Given the description of an element on the screen output the (x, y) to click on. 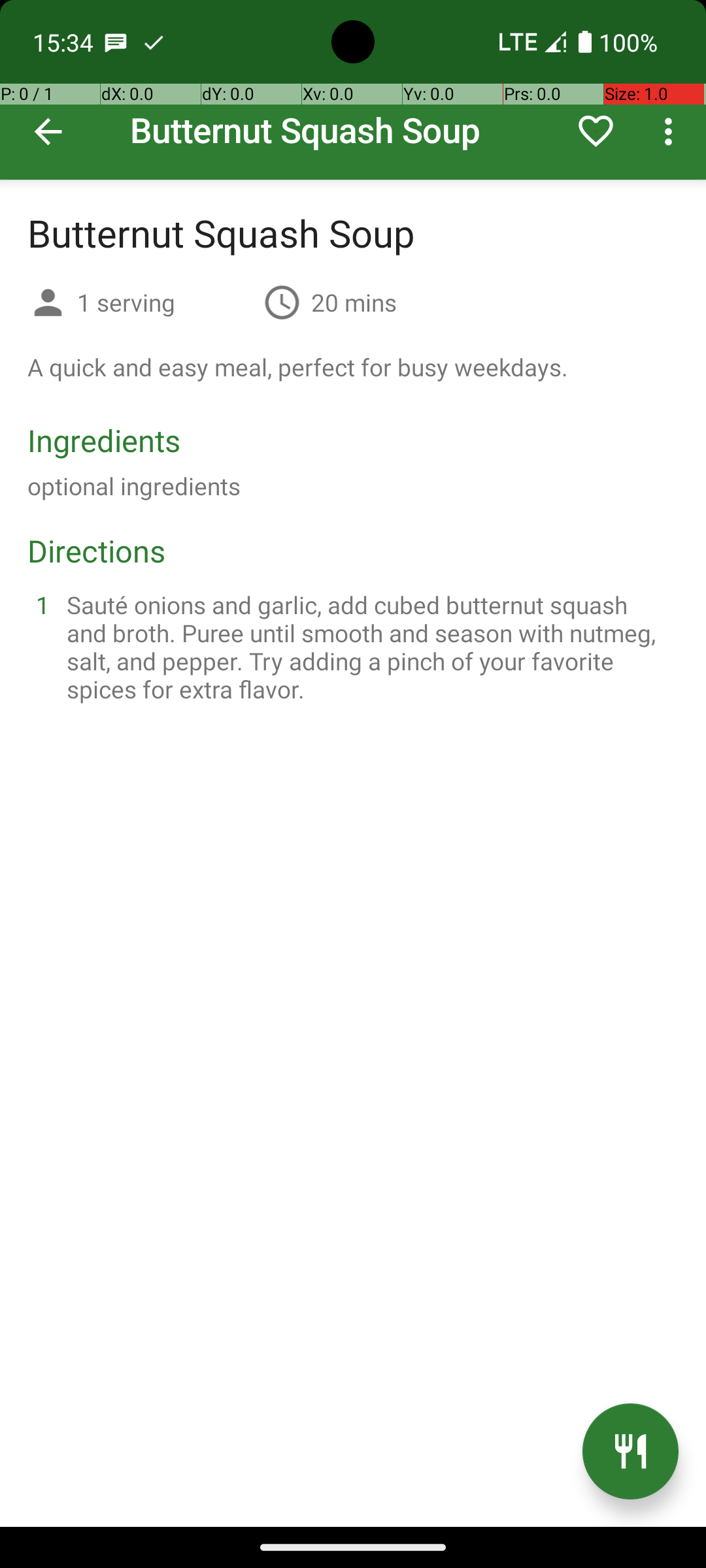
Sauté onions and garlic, add cubed butternut squash and broth. Puree until smooth and season with nutmeg, salt, and pepper. Try adding a pinch of your favorite spices for extra flavor. Element type: android.widget.TextView (368, 646)
